Given the description of an element on the screen output the (x, y) to click on. 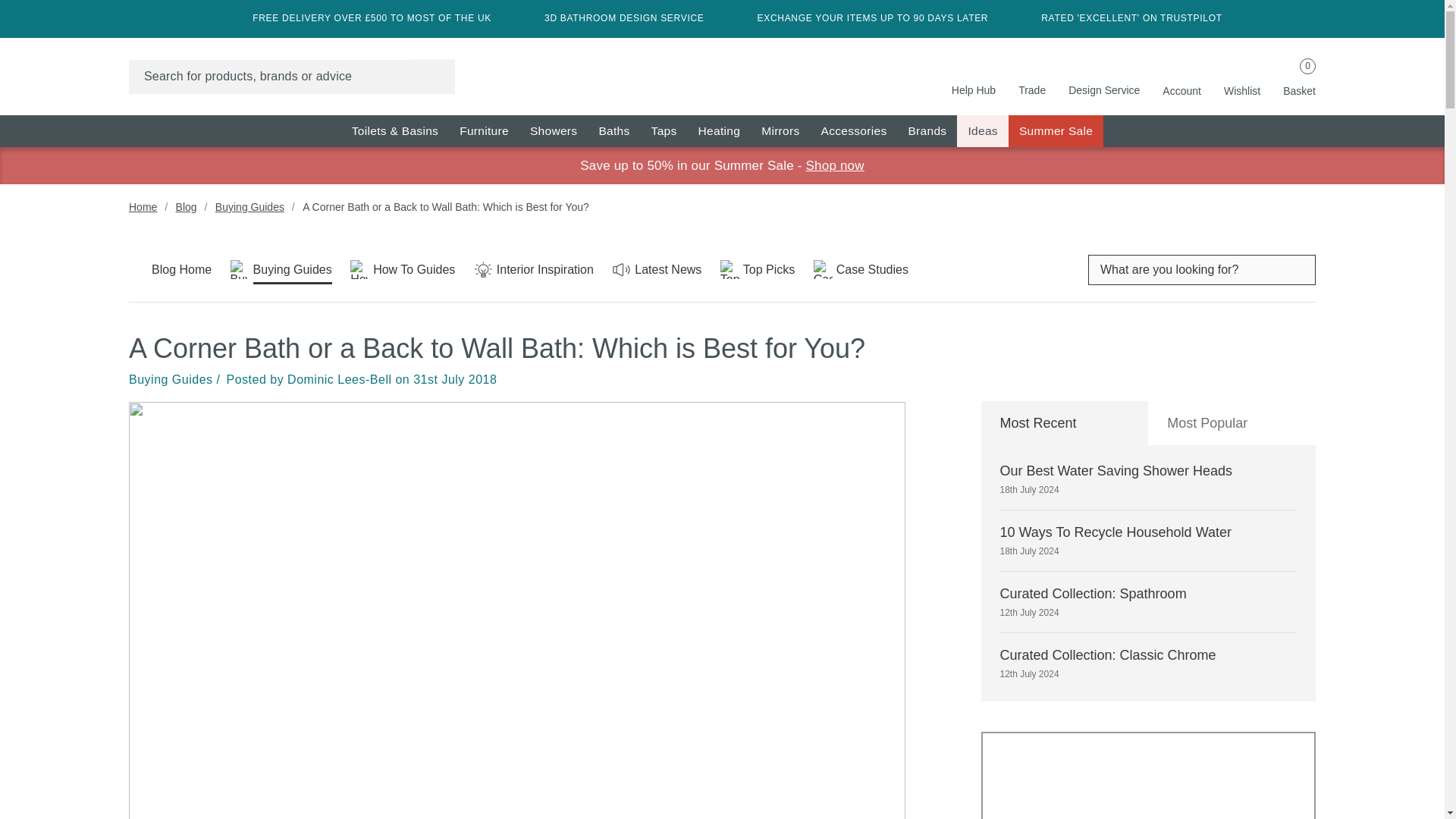
Furniture (1181, 76)
Summer Sale (483, 131)
Drench (1056, 131)
Showers (721, 68)
Help Hub (553, 131)
Mirrors (973, 76)
Heating (780, 131)
Brands (719, 131)
Baths (926, 131)
Ideas (614, 131)
Search (981, 131)
Taps (431, 75)
Design Service (663, 131)
Return to Drench homepage (1104, 76)
